Given the description of an element on the screen output the (x, y) to click on. 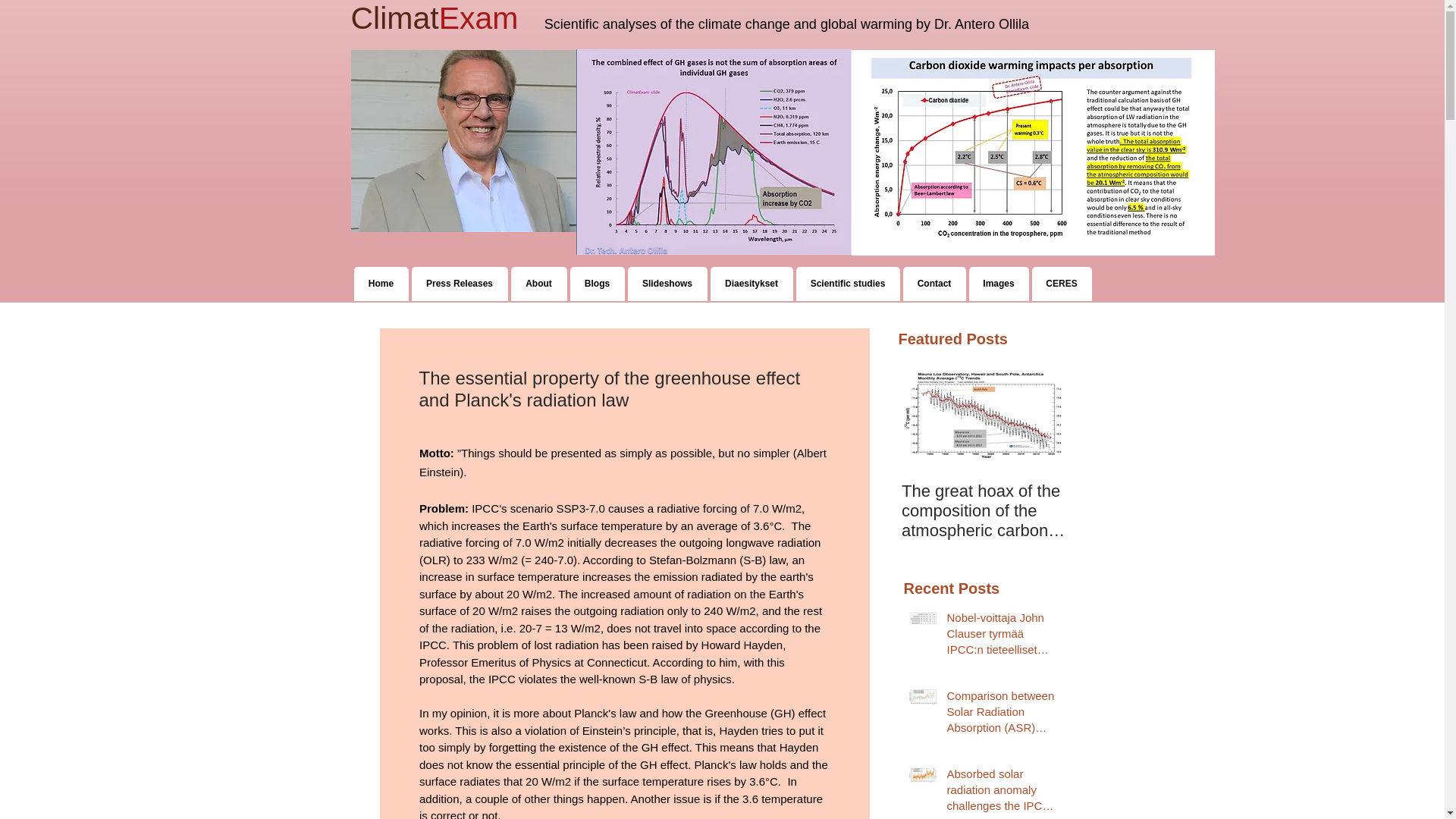
Slideshows (667, 283)
Home (380, 283)
Blogs (597, 283)
Press Releases (458, 283)
Diaesitykset (751, 283)
About (539, 283)
